Given the description of an element on the screen output the (x, y) to click on. 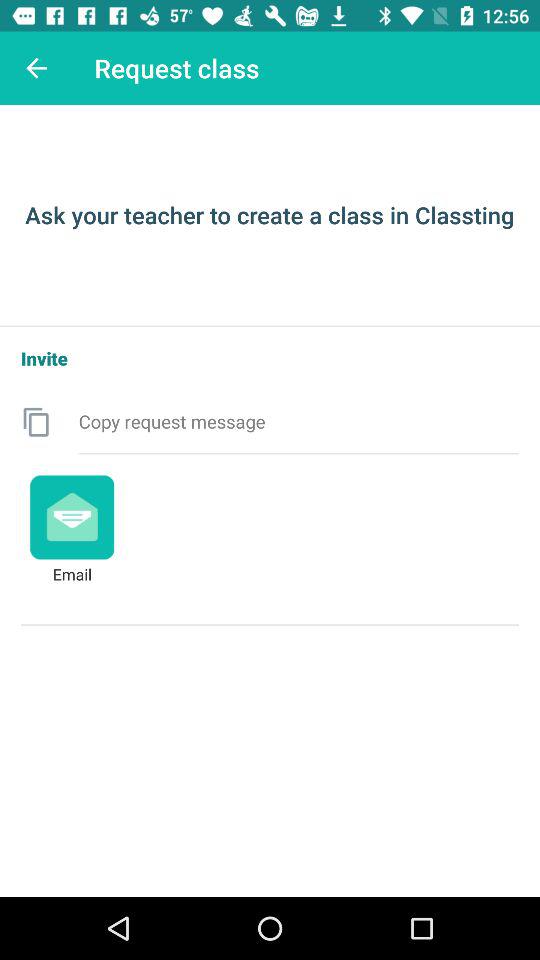
open icon next to the request class (36, 68)
